Given the description of an element on the screen output the (x, y) to click on. 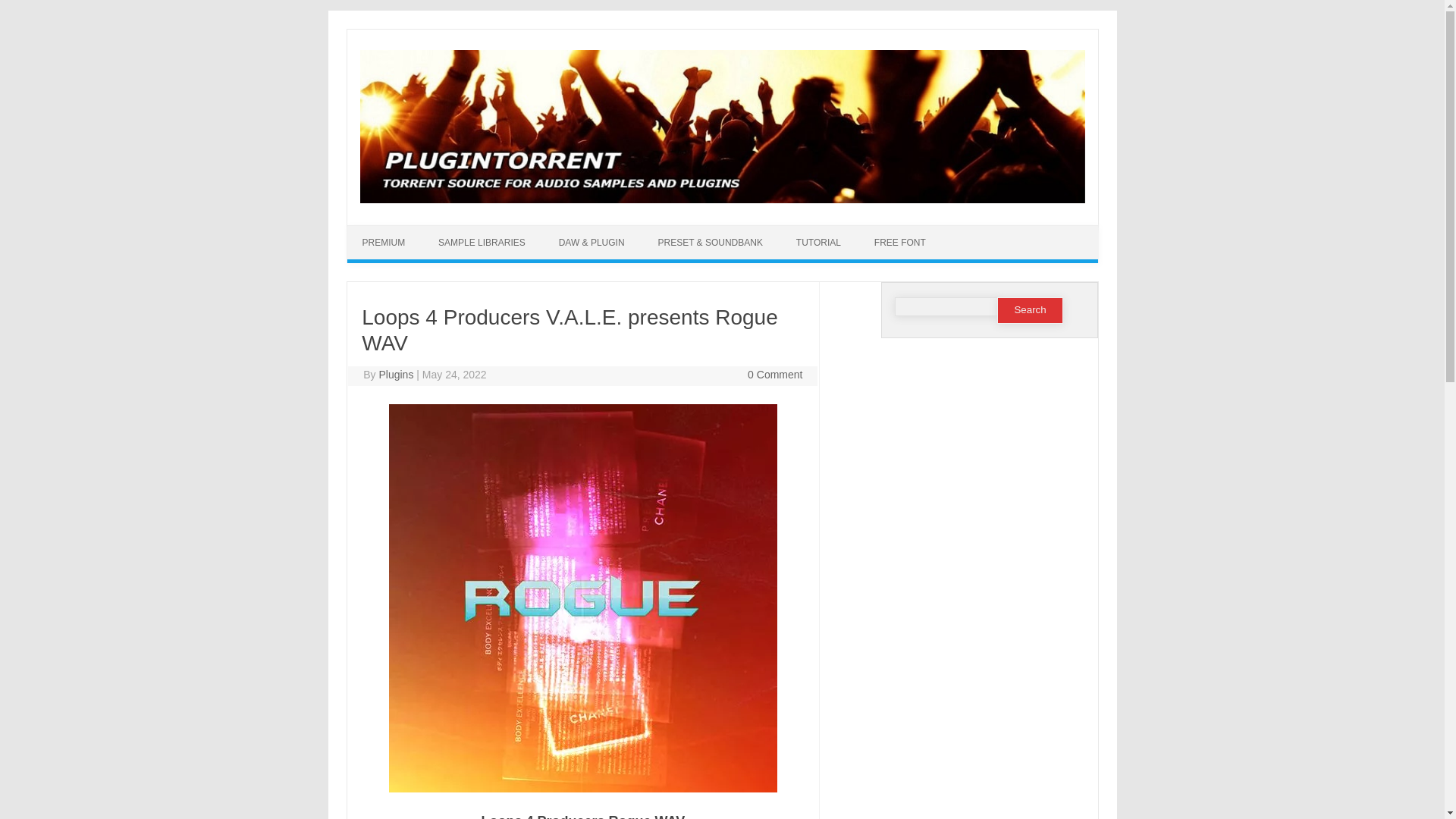
FREE FONT (899, 242)
Posts by Plugins (395, 374)
TUTORIAL (818, 242)
SAMPLE LIBRARIES (481, 242)
Skip to content (757, 230)
Plugintorrent (721, 199)
0 Comment (775, 374)
Skip to content (757, 230)
Plugins (395, 374)
PREMIUM (383, 242)
